Given the description of an element on the screen output the (x, y) to click on. 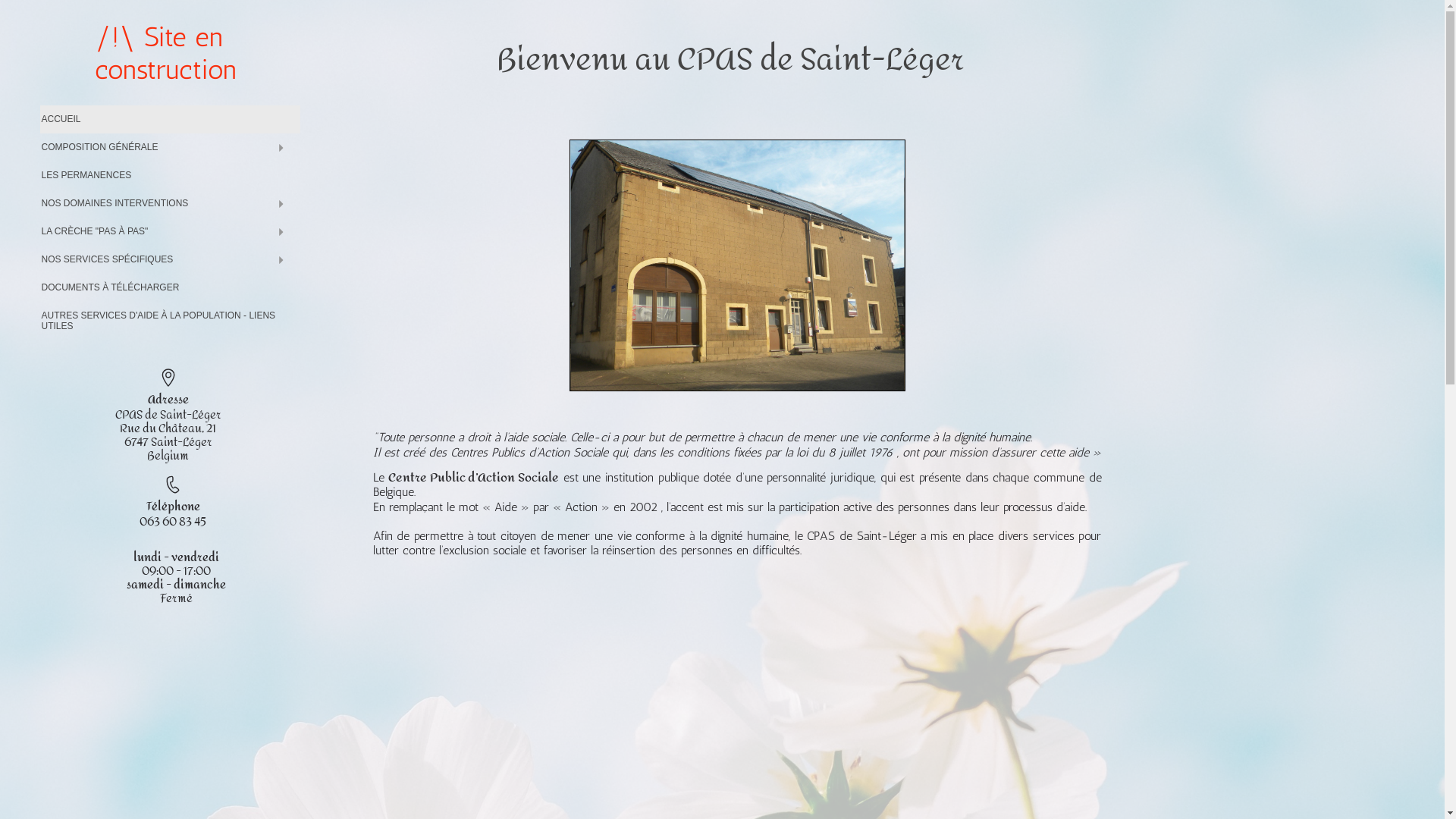
LES PERMANENCES Element type: text (169, 175)
NOS DOMAINES INTERVENTIONS Element type: text (169, 203)
063 60 83 45 Element type: text (172, 522)
ACCUEIL Element type: text (169, 119)
